Given the description of an element on the screen output the (x, y) to click on. 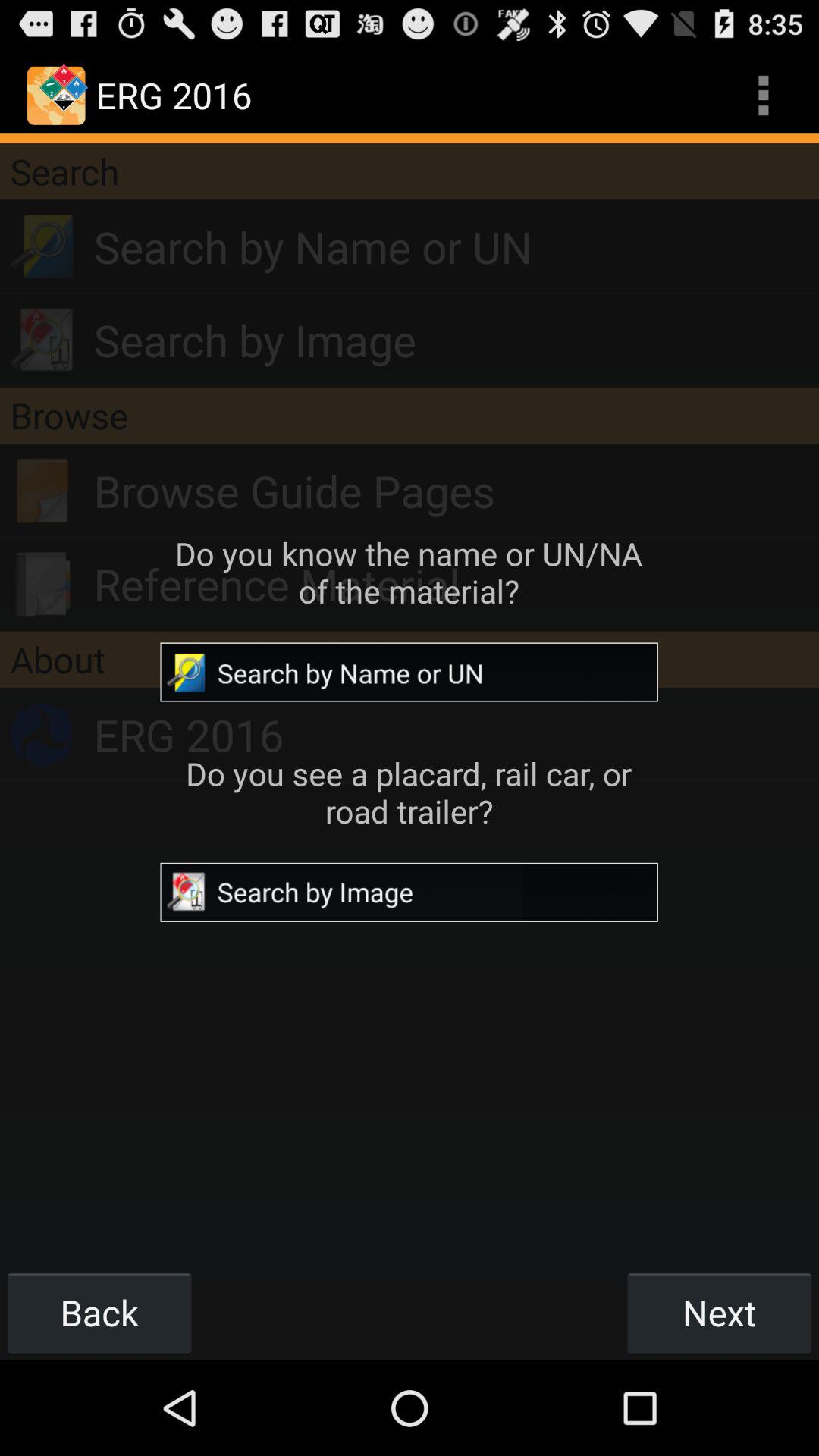
press browse guide pages (456, 490)
